Given the description of an element on the screen output the (x, y) to click on. 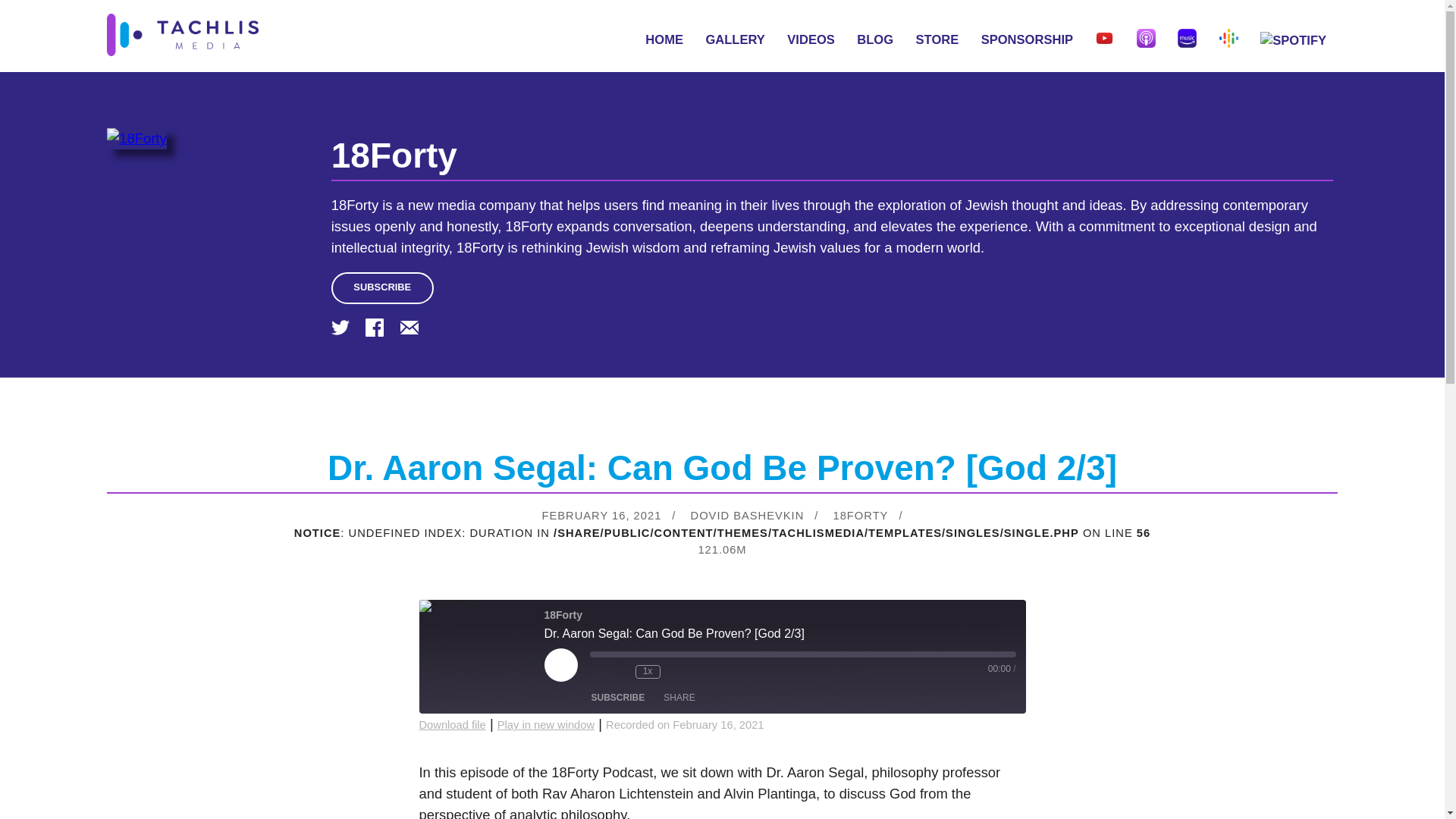
STORE (936, 39)
Subscribe (617, 697)
Play in new window (545, 725)
SPONSORSHIP (1026, 39)
VIDEOS (810, 39)
Download file (451, 725)
18Forty (394, 155)
SUBSCRIBE (382, 287)
Play Episode (561, 664)
1x (647, 671)
